Given the description of an element on the screen output the (x, y) to click on. 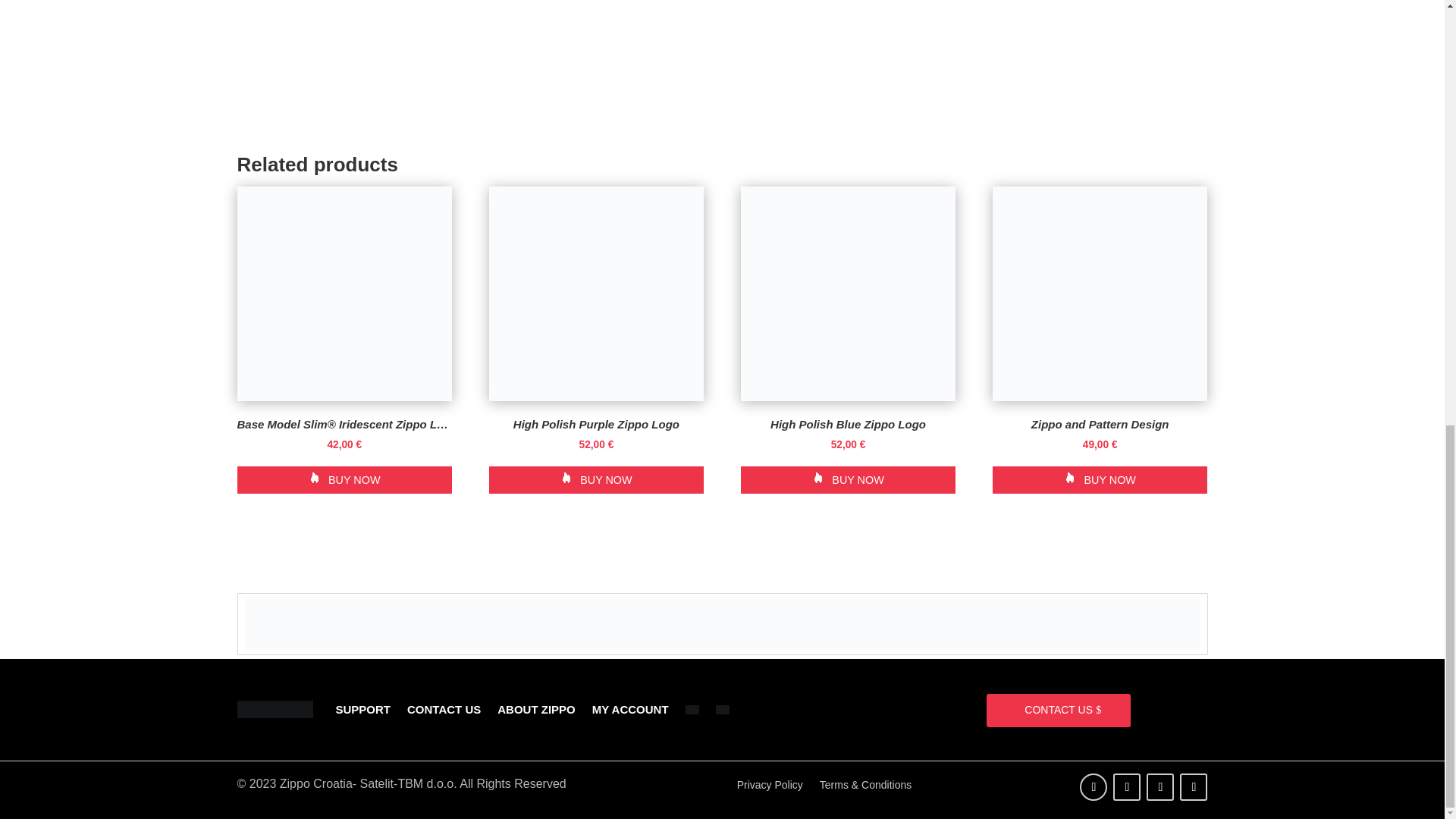
Follow on Youtube (1193, 786)
ikone- karticno-placanje (722, 623)
Follow on X (1126, 786)
Follow on Facebook (1093, 786)
Follow on Instagram (1160, 786)
